Given the description of an element on the screen output the (x, y) to click on. 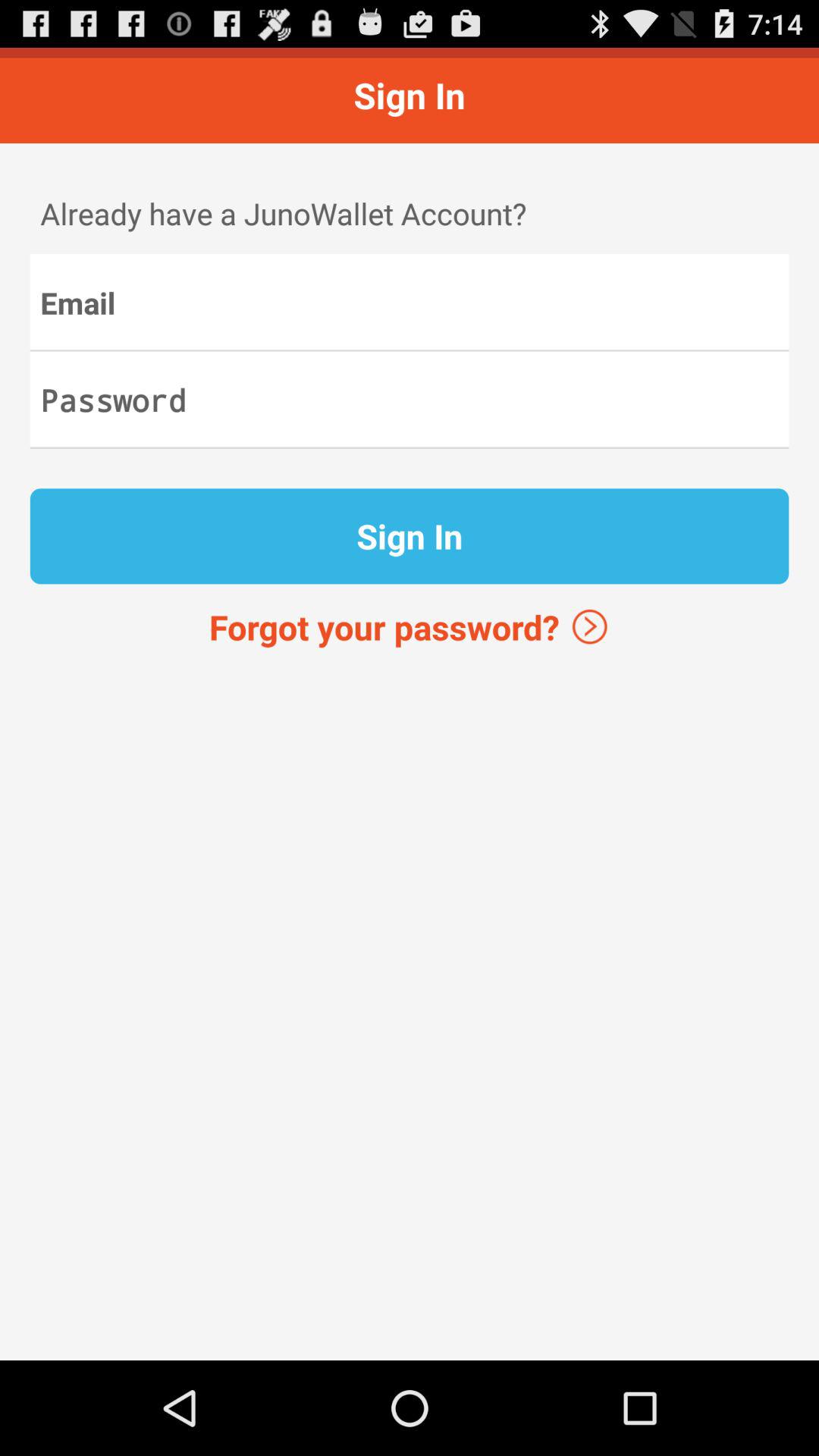
flip until the forgot your password? (409, 627)
